Given the description of an element on the screen output the (x, y) to click on. 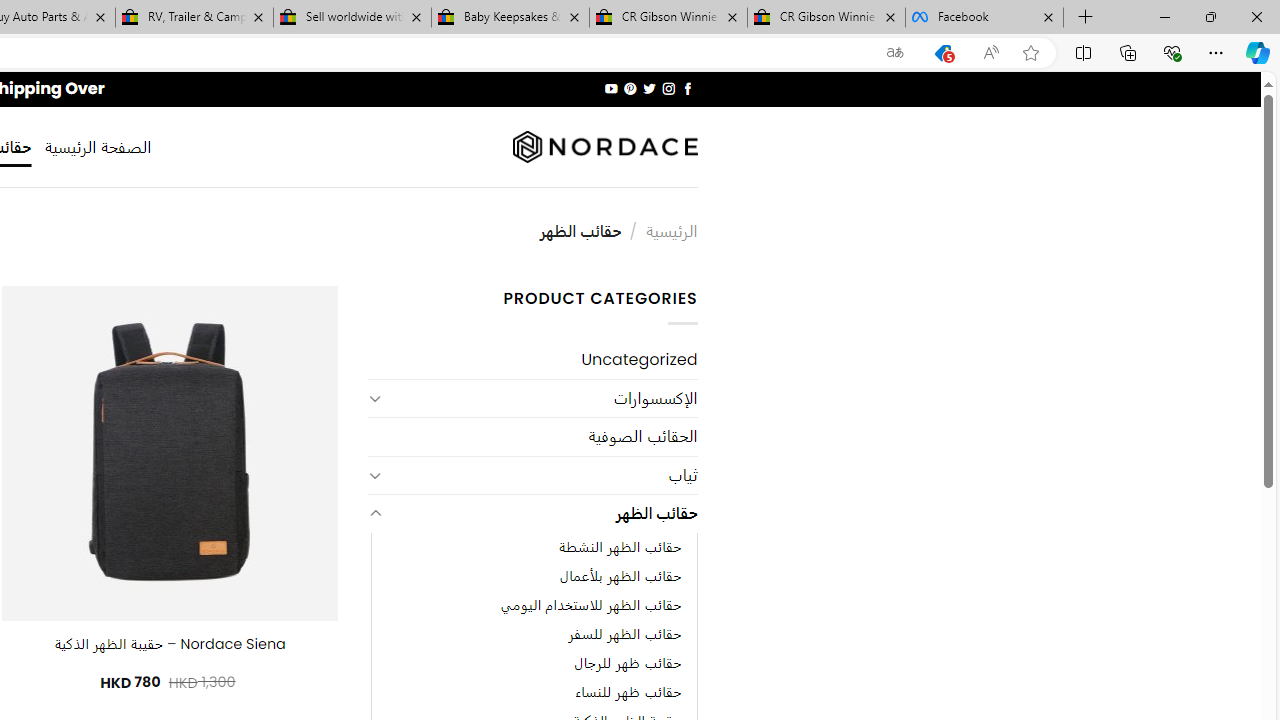
Facebook (984, 17)
Follow on Facebook (686, 88)
Uncategorized (532, 359)
Follow on Pinterest (630, 88)
